Given the description of an element on the screen output the (x, y) to click on. 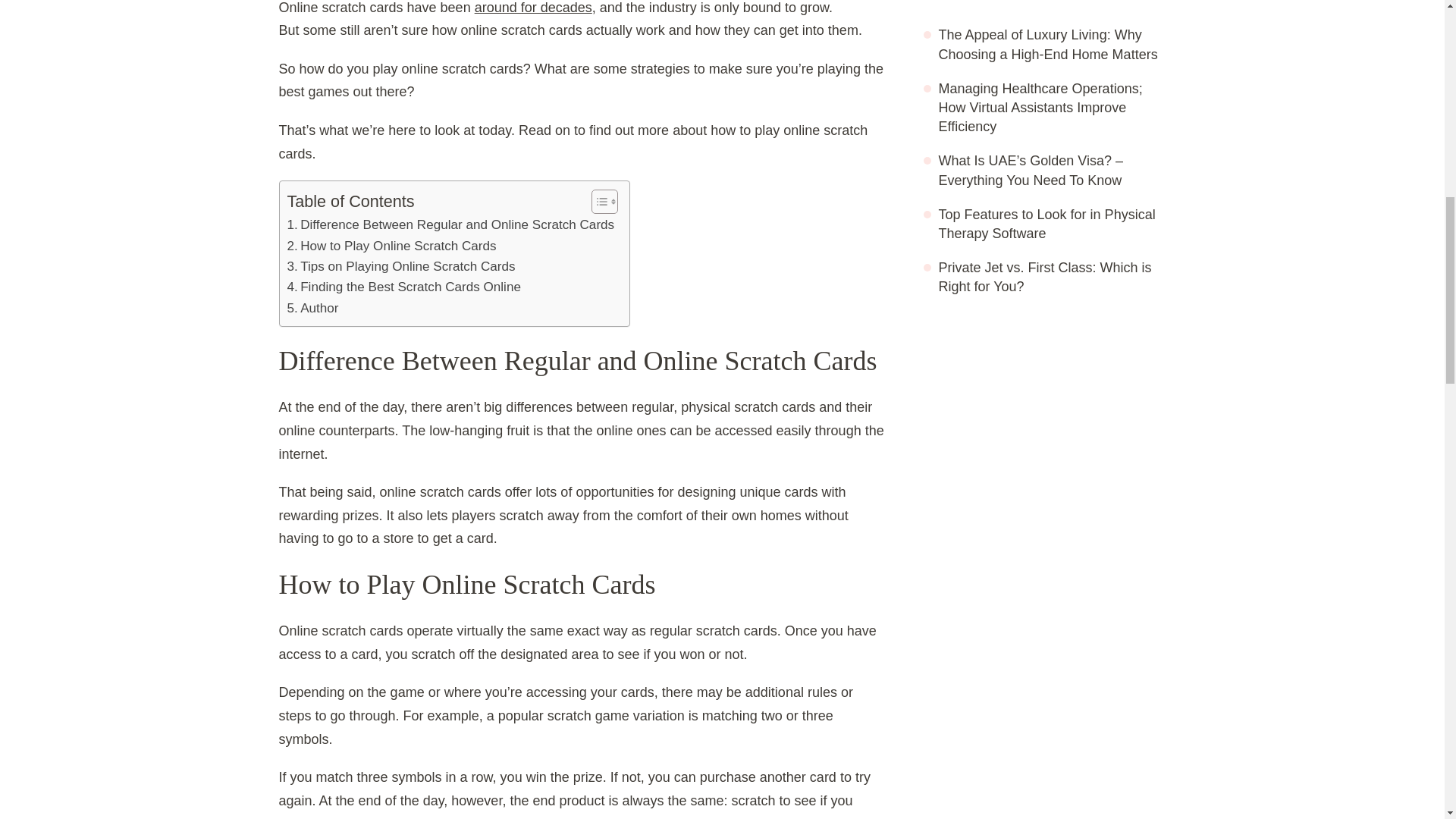
Author (311, 308)
Author (311, 308)
Difference Between Regular and Online Scratch Cards (450, 224)
Difference Between Regular and Online Scratch Cards (450, 224)
How to Play Online Scratch Cards (391, 245)
Finding the Best Scratch Cards Online (402, 286)
Finding the Best Scratch Cards Online (402, 286)
Tips on Playing Online Scratch Cards (400, 266)
Tips on Playing Online Scratch Cards (400, 266)
around for decades (533, 7)
